Given the description of an element on the screen output the (x, y) to click on. 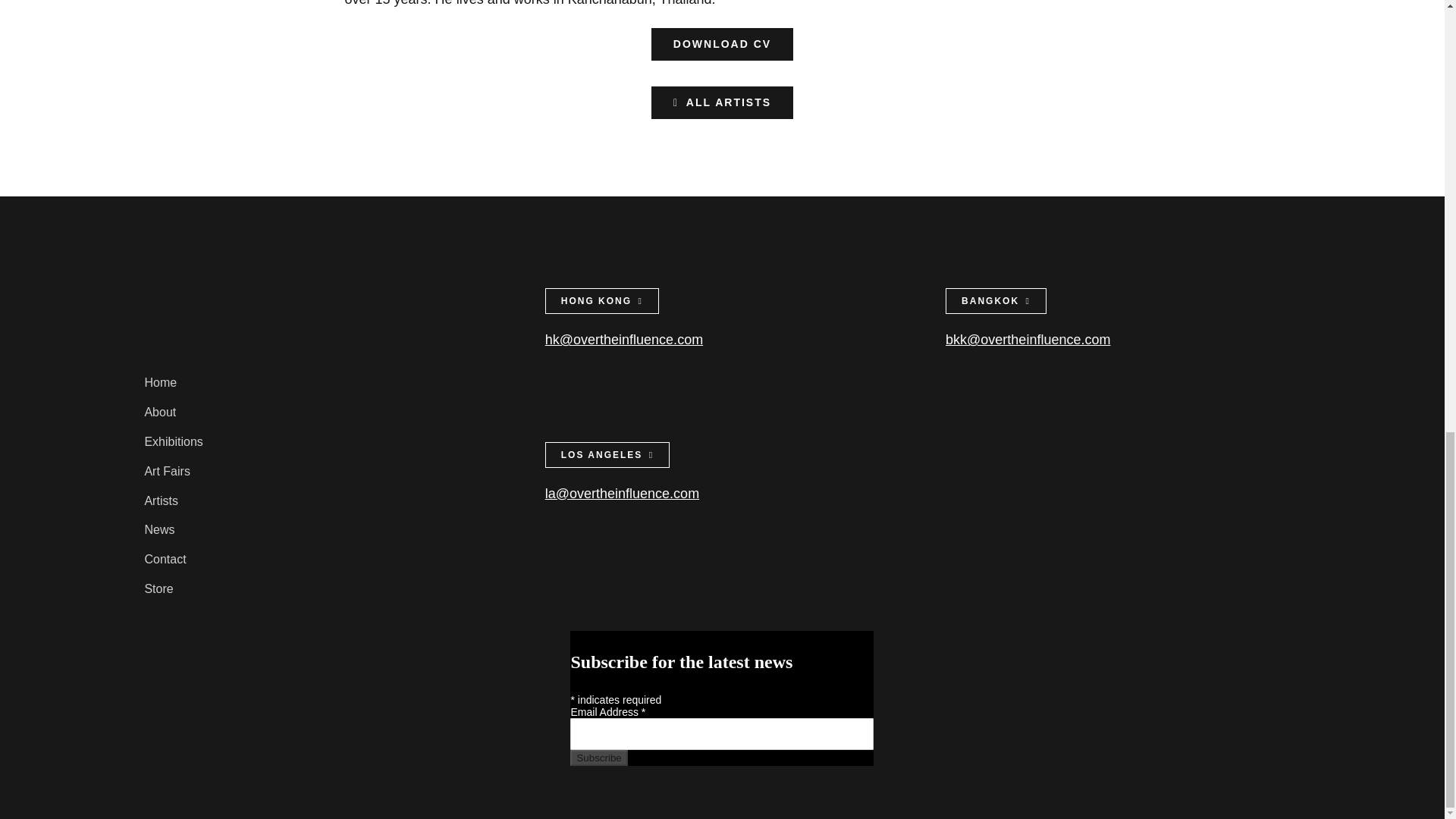
LOS ANGELES (606, 454)
HONG KONG (601, 300)
Store (320, 589)
Subscribe (598, 757)
Art Fairs (320, 472)
About (320, 413)
Subscribe (598, 757)
Home (320, 382)
BANGKOK (995, 300)
ALL ARTISTS (721, 102)
